Given the description of an element on the screen output the (x, y) to click on. 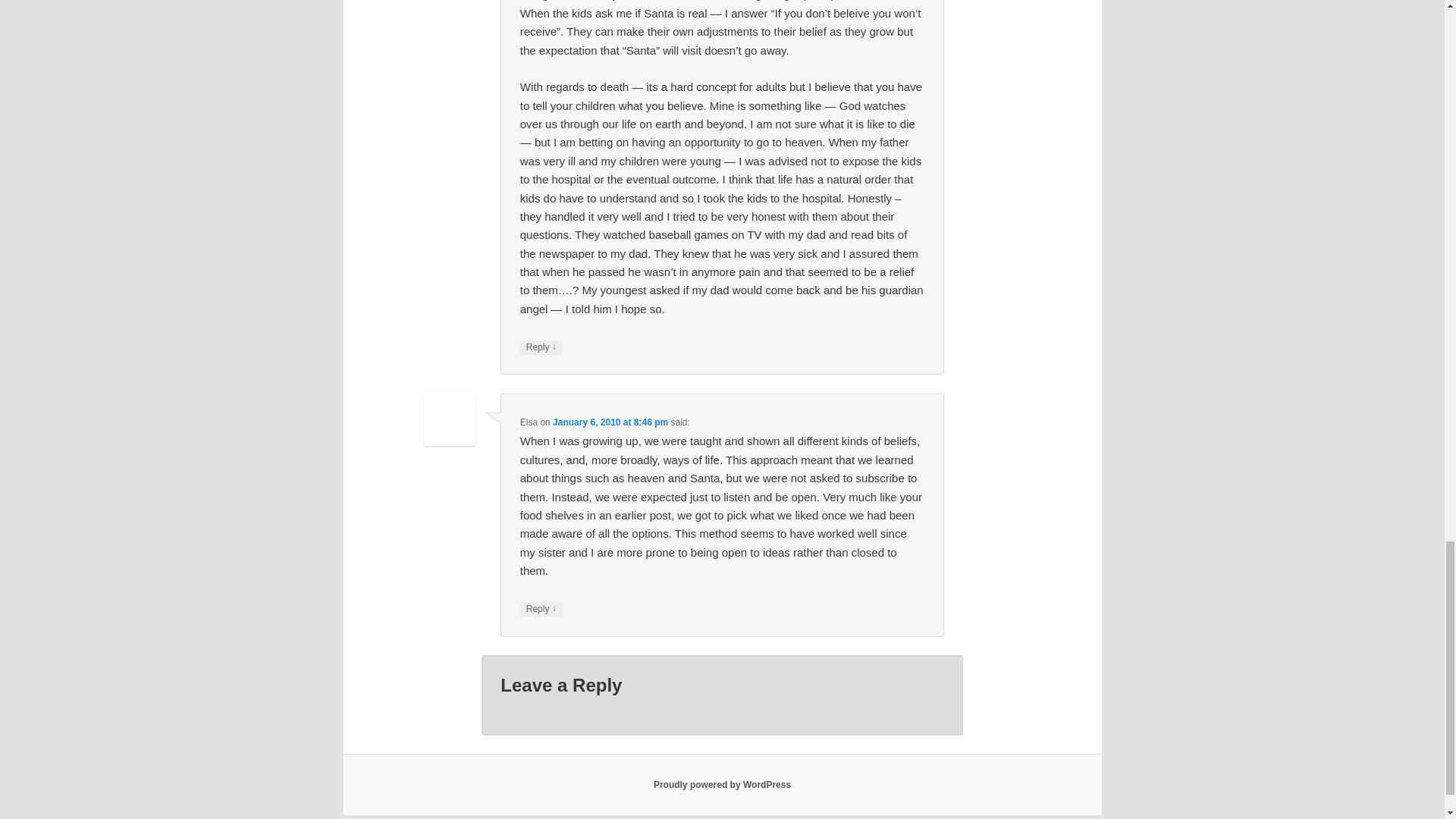
Proudly powered by WordPress (721, 784)
Semantic Personal Publishing Platform (721, 784)
January 6, 2010 at 8:46 pm (610, 421)
